Given the description of an element on the screen output the (x, y) to click on. 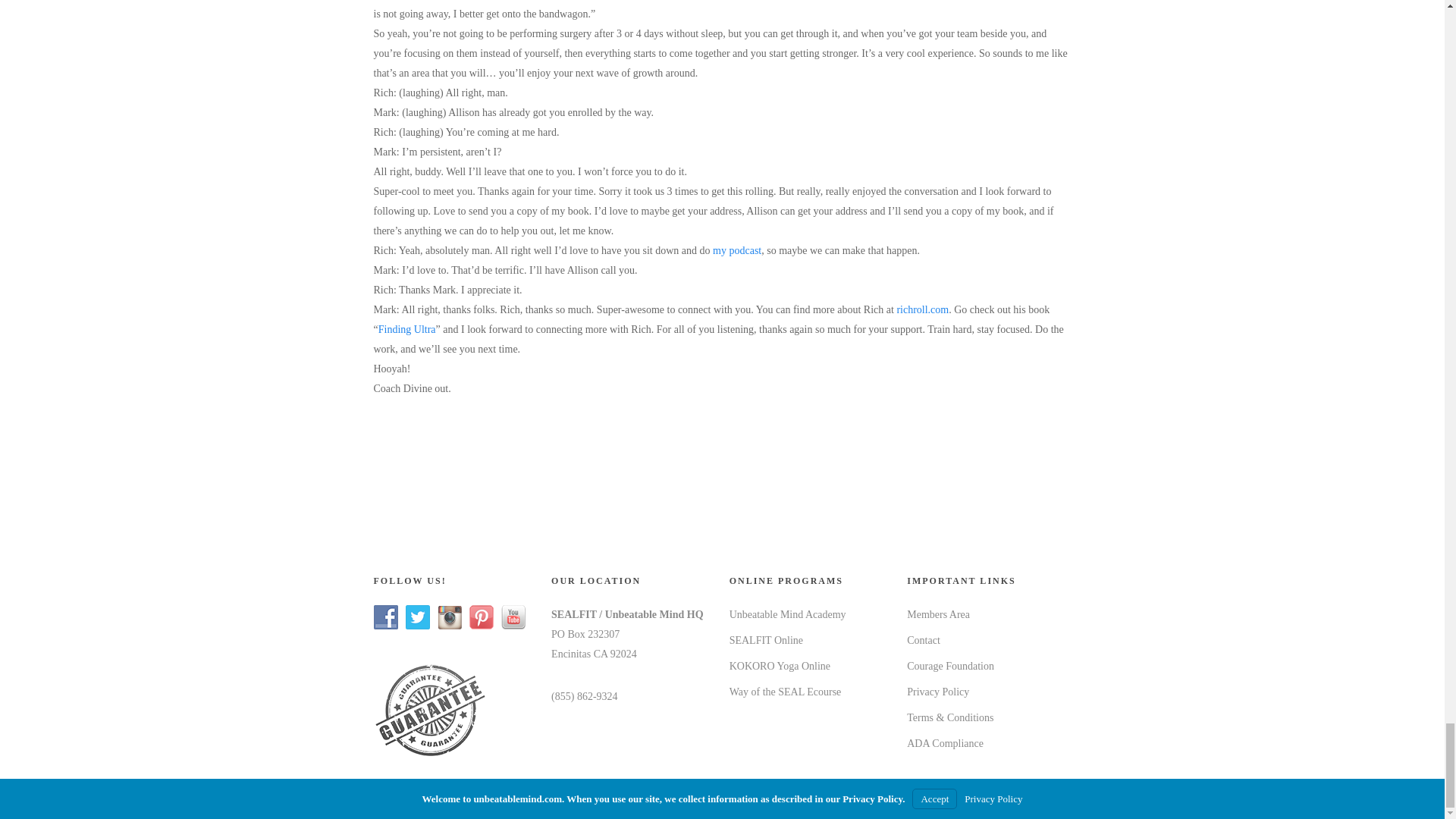
Follow Us on Twitter (416, 617)
Follow Us on Instagram (448, 617)
Follow Us on Pinterest (480, 617)
Follow Us on Facebook (384, 617)
Follow Us on YouTube (512, 617)
